Given the description of an element on the screen output the (x, y) to click on. 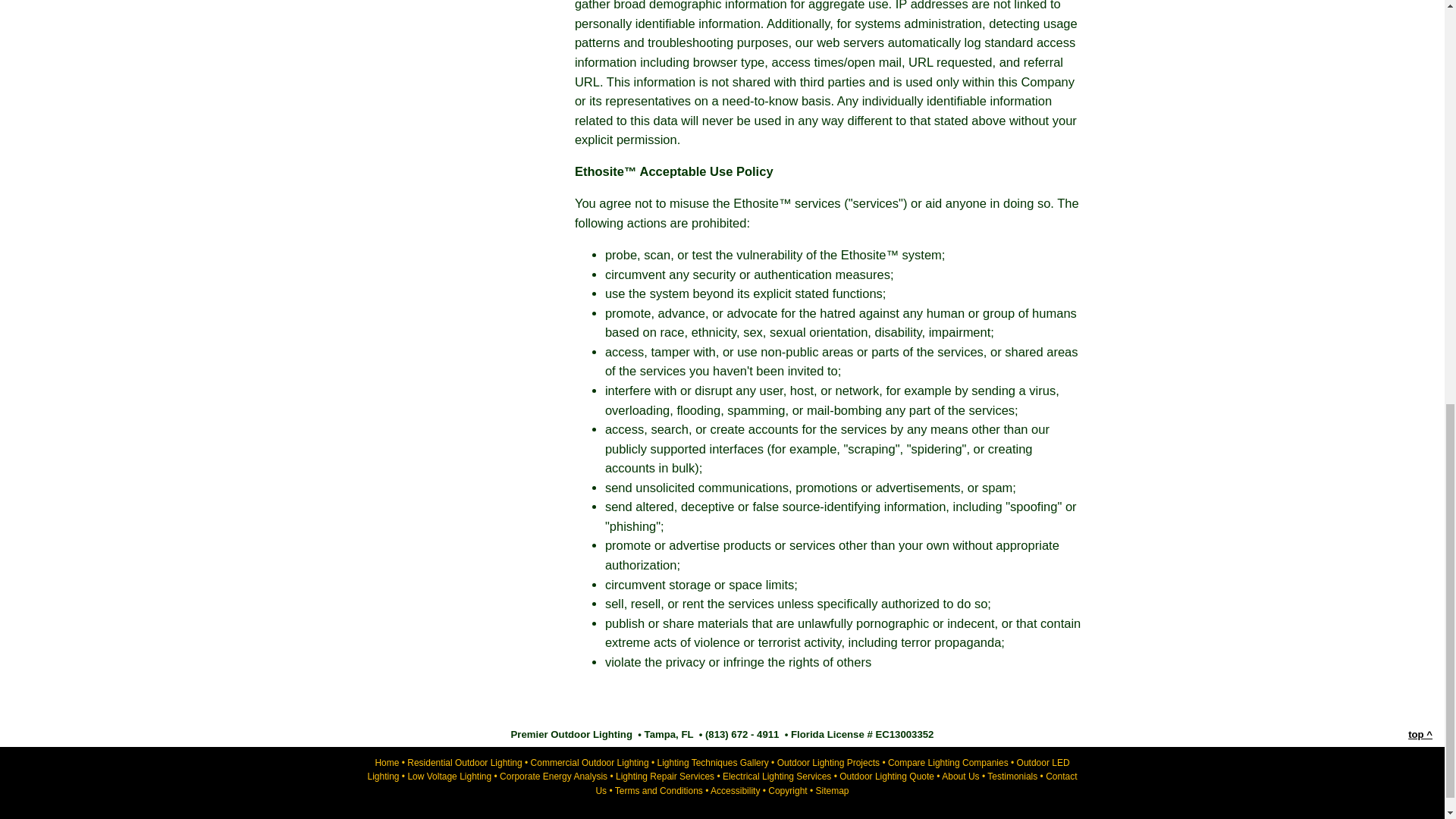
Contact Us (836, 783)
MagicBus.com (671, 818)
Outdoor Lighting Projects (828, 762)
Low Voltage Lighting (449, 776)
Sitemap (831, 790)
Electrical Lighting Services (776, 776)
Outdoor Lighting Quote (887, 776)
Outdoor LED Lighting (717, 769)
Terms and Conditions (658, 790)
Corporate Energy Analysis (553, 776)
Testimonials (1011, 776)
Compare Lighting Companies (948, 762)
Lighting Repair Services (664, 776)
Accessibility (735, 790)
Lighting Techniques Gallery (713, 762)
